Given the description of an element on the screen output the (x, y) to click on. 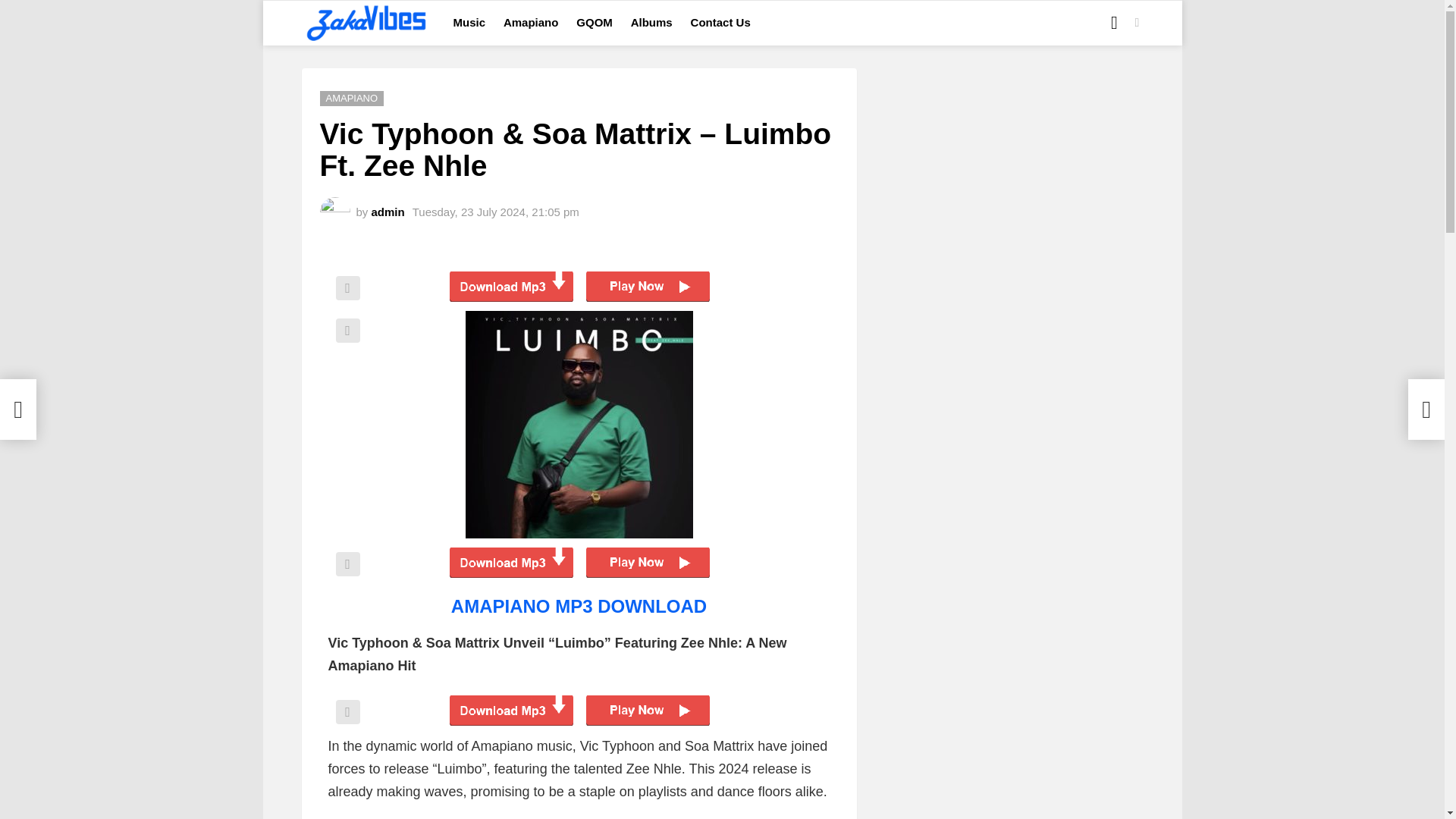
Posts by admin (387, 210)
Share (346, 330)
Amapiano (531, 22)
AMAPIANO MP3 DOWNLOAD (578, 606)
Music (469, 22)
Share (346, 564)
Share (346, 711)
Share (346, 288)
GQOM (594, 22)
AMAPIANO (352, 98)
admin (387, 210)
Albums (651, 22)
Contact Us (720, 22)
